Given the description of an element on the screen output the (x, y) to click on. 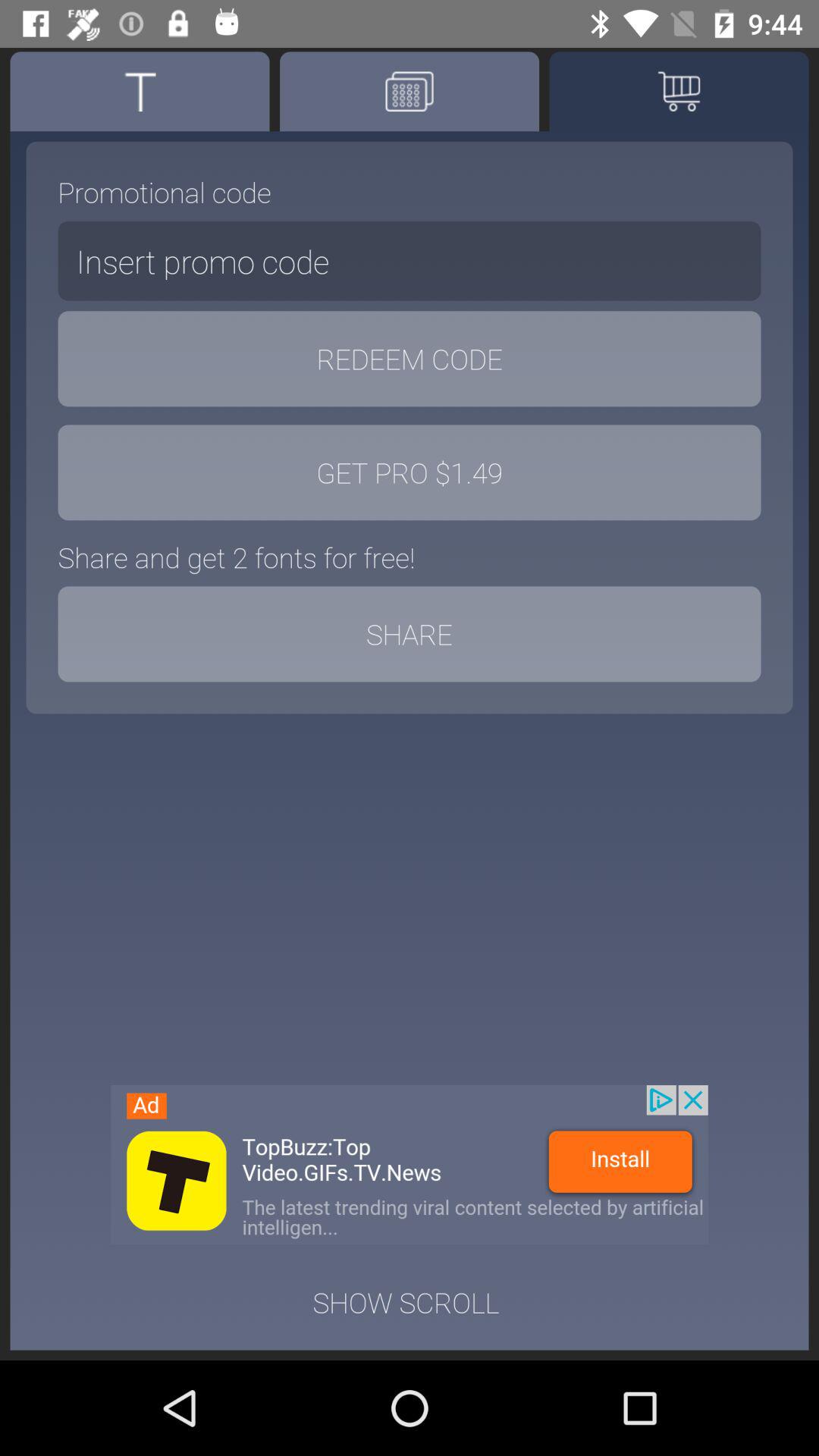
cart option (678, 91)
